Given the description of an element on the screen output the (x, y) to click on. 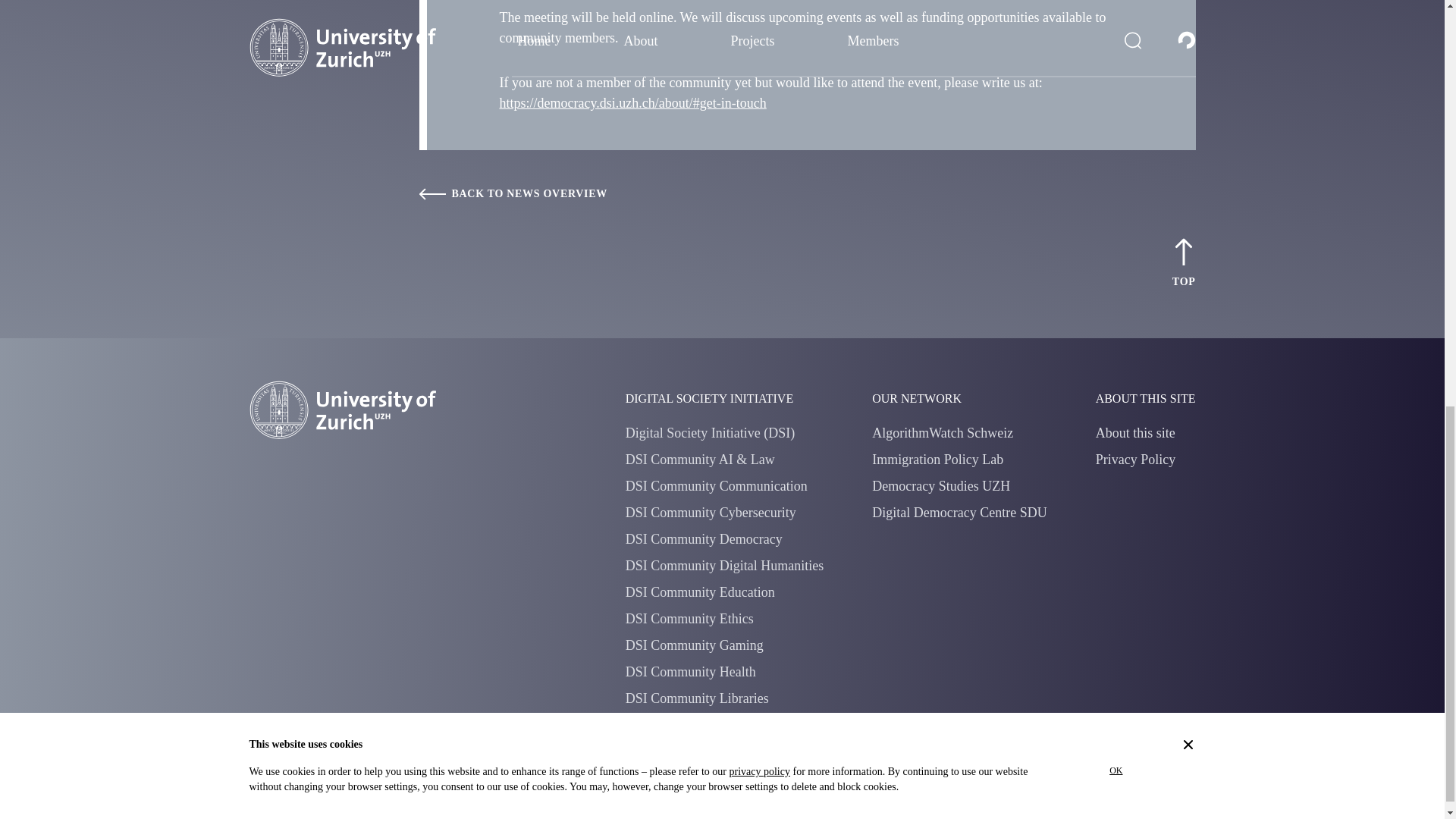
BACK TO NEWS OVERVIEW (807, 193)
